Given the description of an element on the screen output the (x, y) to click on. 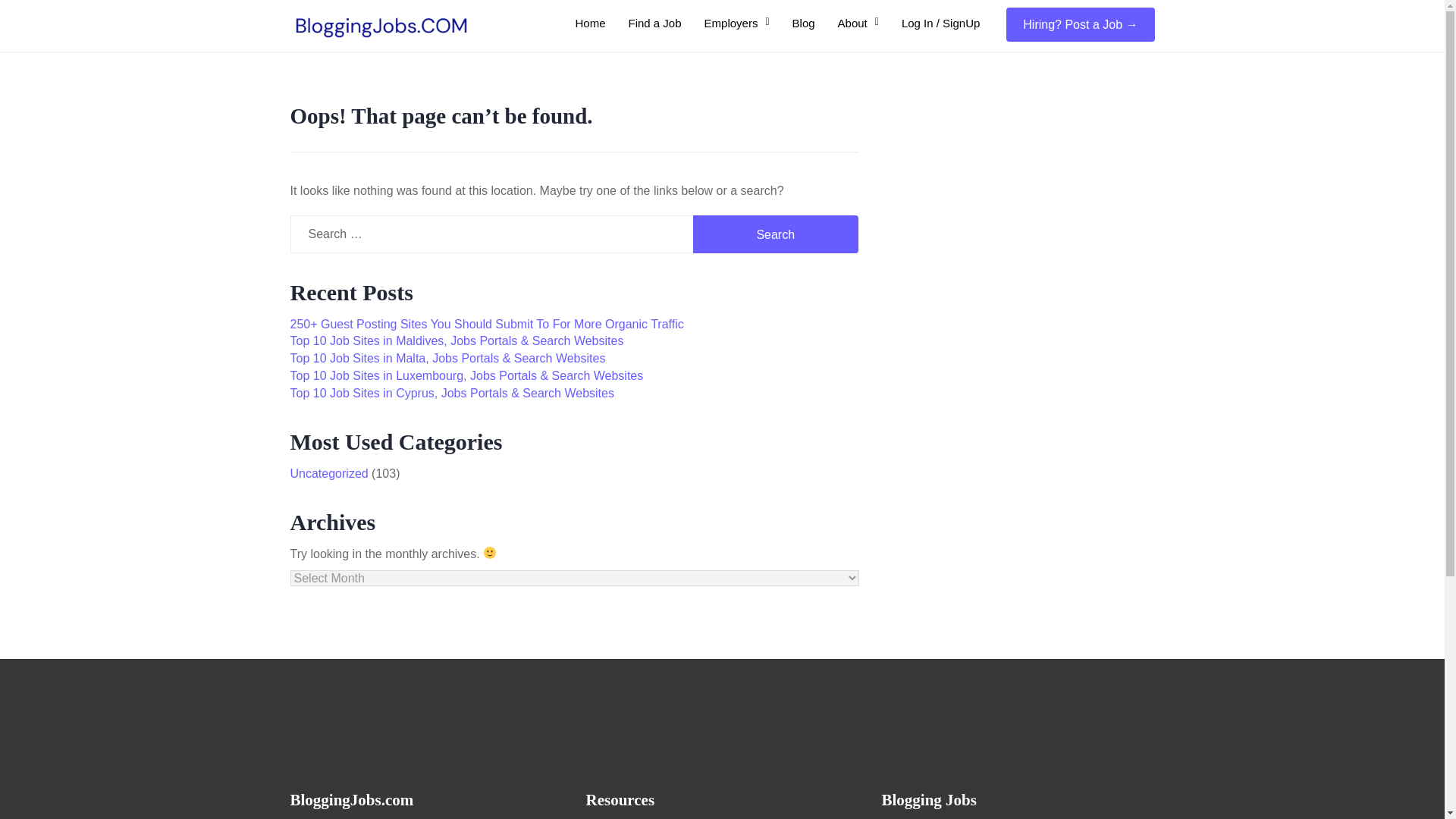
About (858, 22)
About (858, 22)
Find a Job (655, 22)
Find a Job (655, 22)
Home (590, 22)
Blog (803, 22)
Blog (803, 22)
Search (776, 234)
Search (776, 234)
Home (590, 22)
Employers (736, 22)
Uncategorized (328, 472)
Employers (736, 22)
Search (776, 234)
